Given the description of an element on the screen output the (x, y) to click on. 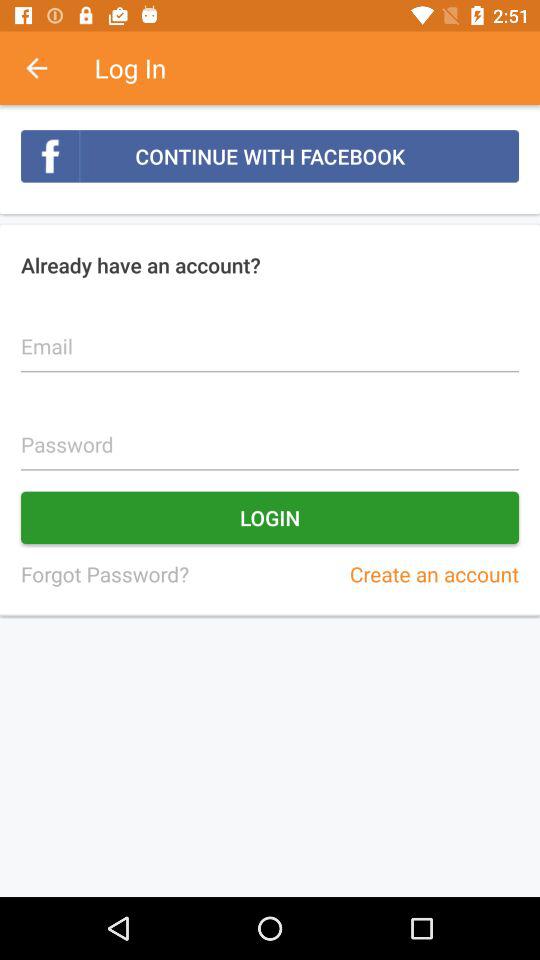
enter email address (270, 335)
